Given the description of an element on the screen output the (x, y) to click on. 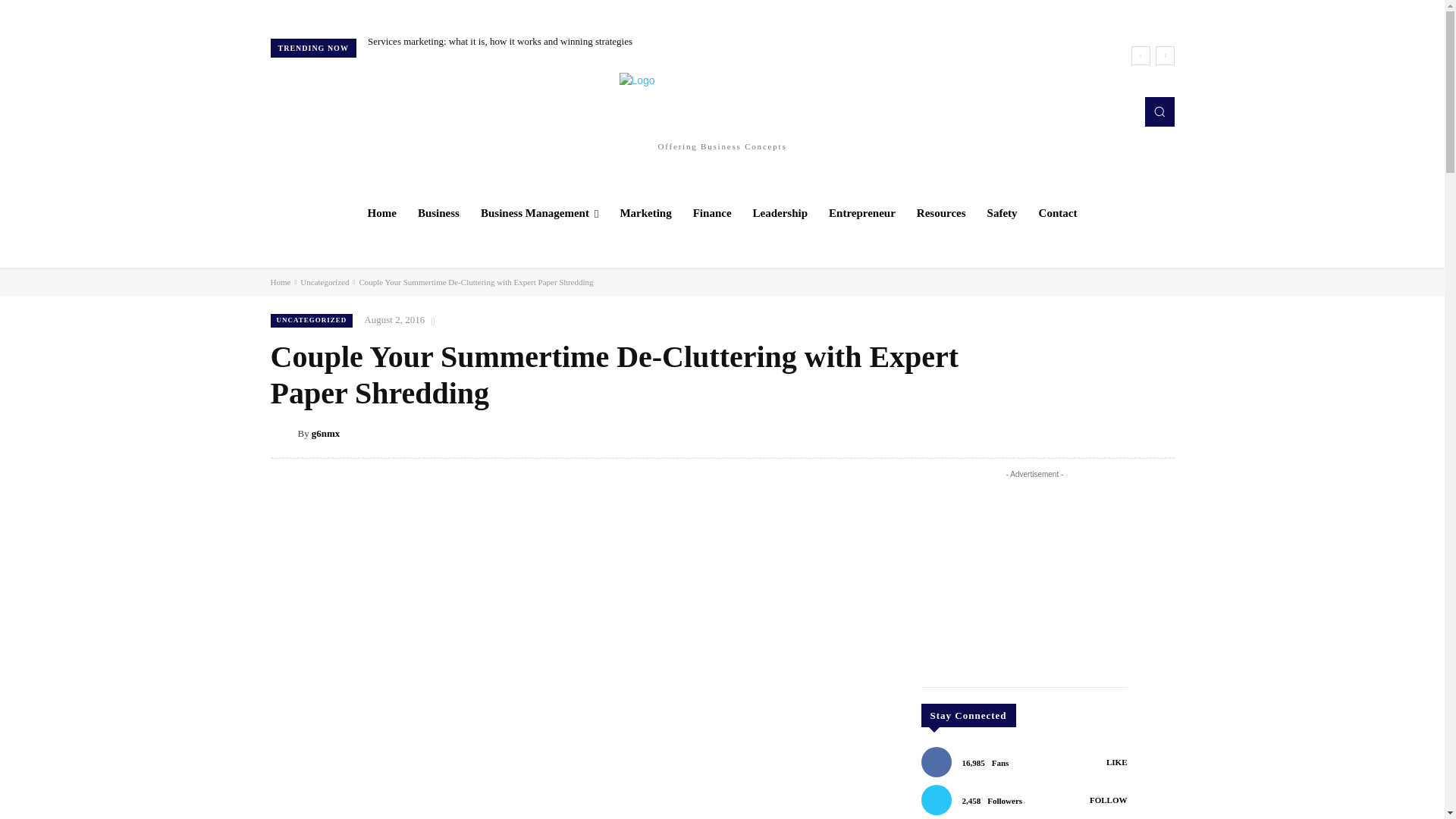
Leadership (780, 212)
Contact (1057, 212)
Home (381, 212)
Resources (940, 212)
Business Management (539, 212)
Marketing (644, 212)
Business (438, 212)
Entrepreneur (861, 212)
Finance (712, 212)
Offering Business Concepts (722, 111)
Safety (1001, 212)
